Given the description of an element on the screen output the (x, y) to click on. 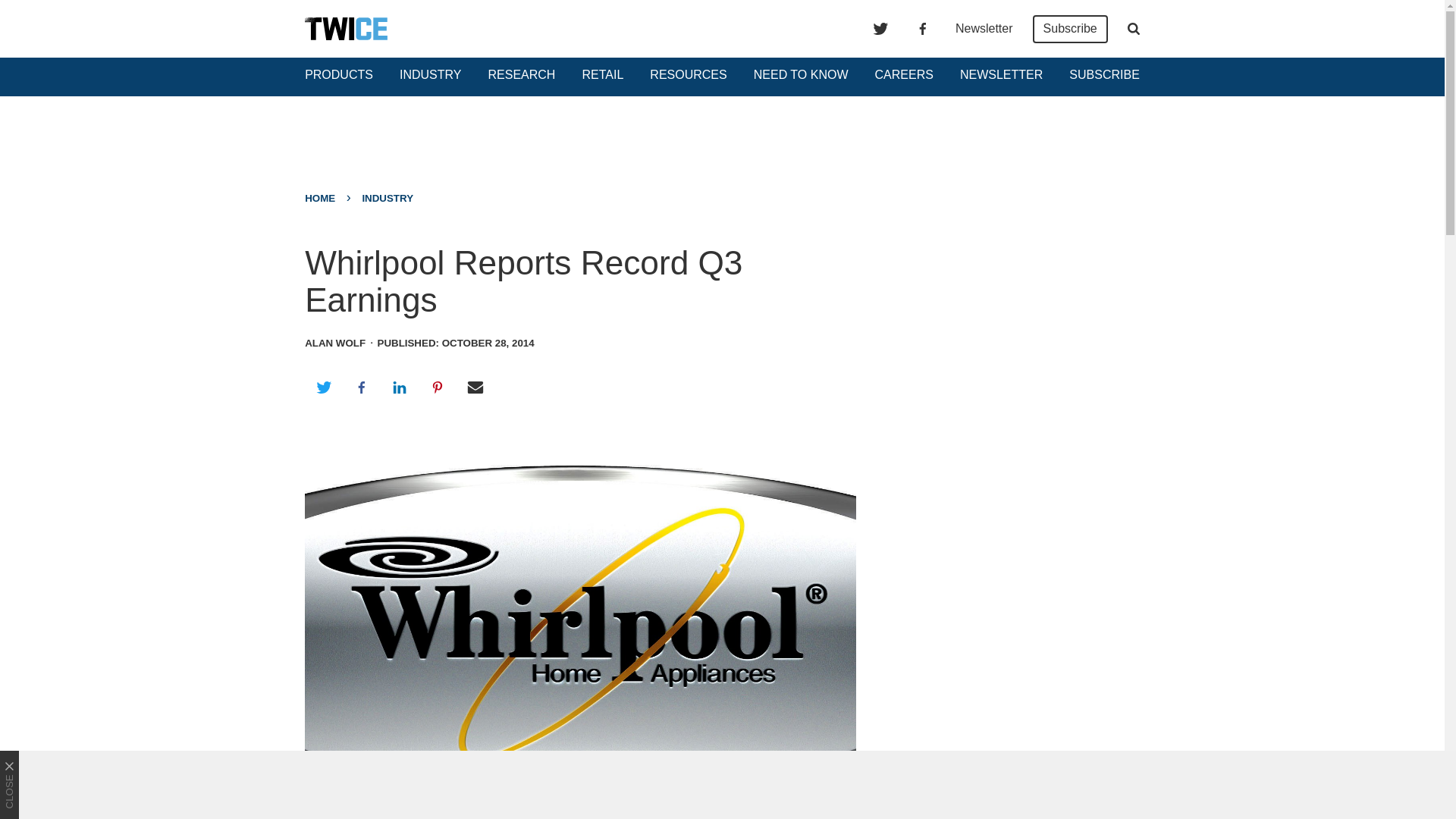
Share on LinkedIn (399, 387)
Share on Twitter (323, 387)
Share on Facebook (361, 387)
Share on Pinterest (438, 387)
Share via Email (476, 387)
Posts by Alan Wolf (334, 342)
